Given the description of an element on the screen output the (x, y) to click on. 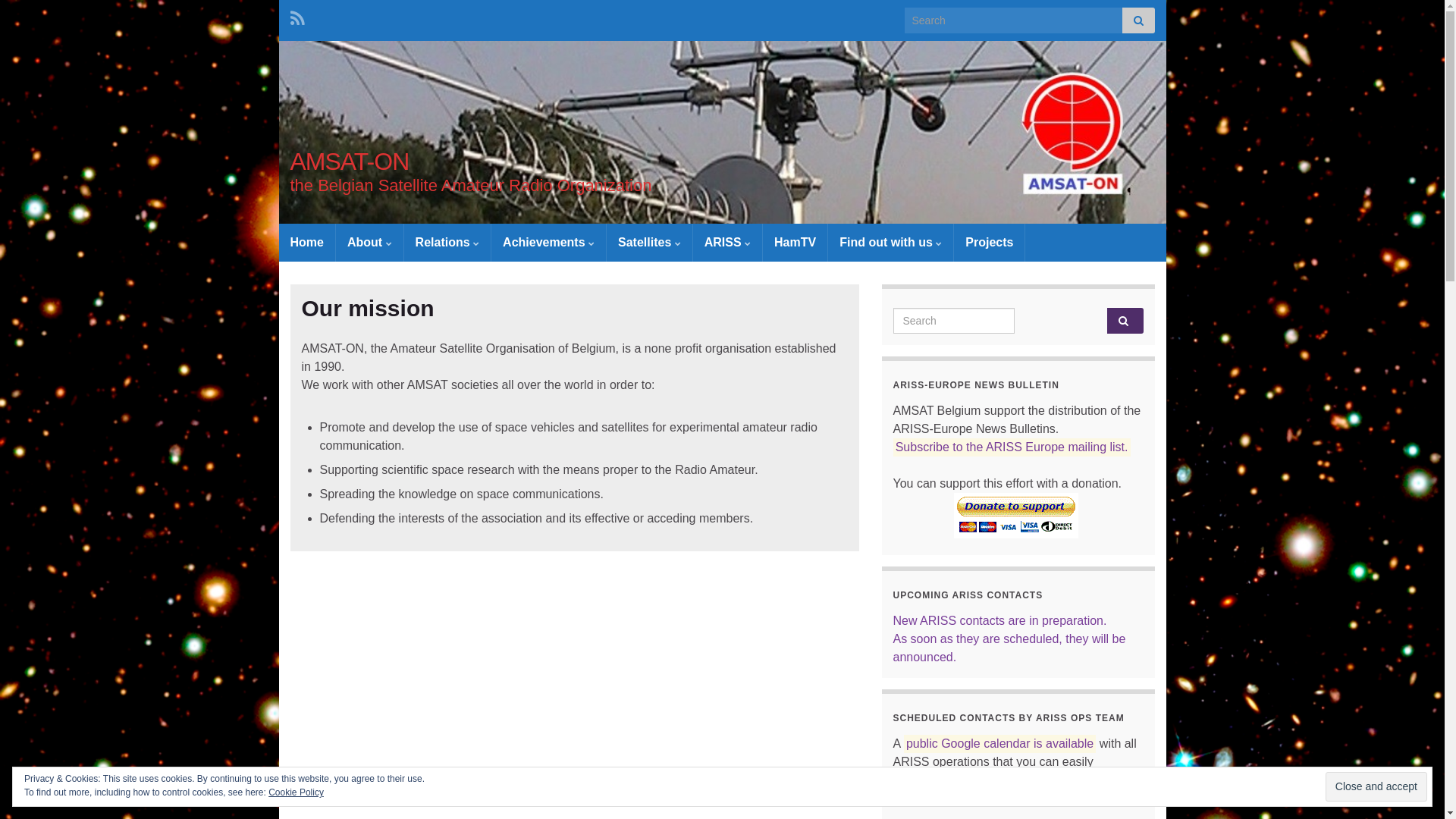
ARISS Element type: text (727, 242)
Find out with us Element type: text (890, 242)
About Element type: text (369, 242)
Satellites Element type: text (649, 242)
AMSAT-ON Element type: text (348, 161)
Subscribe to the ARISS Europe mailing list. Element type: text (1011, 446)
PayPal - The safer, easier way to pay online! Element type: hover (1015, 515)
public Google calendar is available Element type: text (999, 743)
Relations Element type: text (447, 242)
Subscribe to AMSAT-ON's RSS feed Element type: hover (296, 16)
Close and accept Element type: text (1376, 786)
Home Element type: text (307, 242)
Cookie Policy Element type: text (295, 792)
Projects Element type: text (988, 242)
HamTV Element type: text (794, 242)
Achievements Element type: text (548, 242)
AMSAT-ON Element type: hover (722, 131)
